Given the description of an element on the screen output the (x, y) to click on. 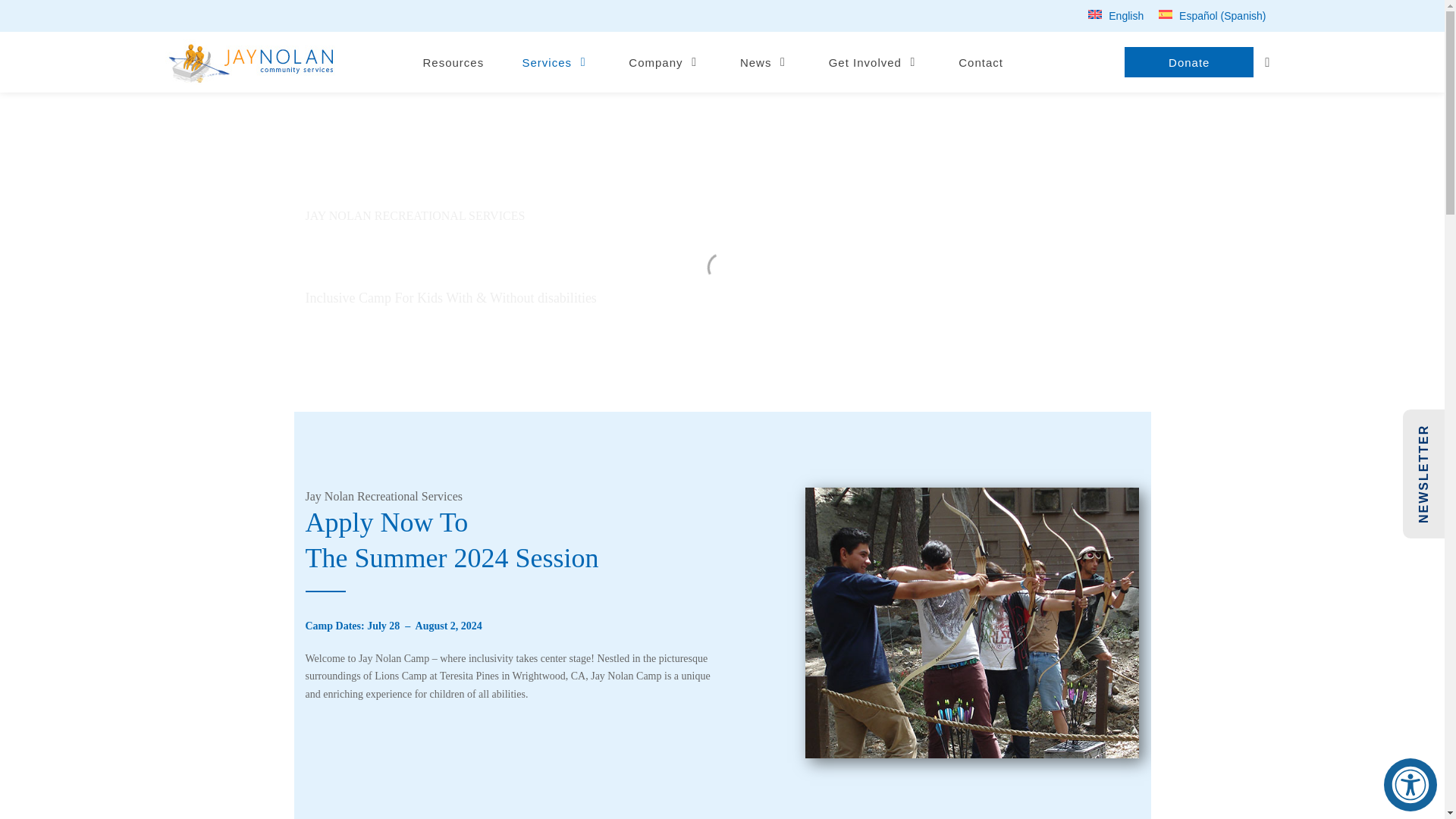
Services (556, 62)
News (764, 62)
Accessibility (1410, 784)
feature-main-1-camp (972, 622)
Resources (453, 62)
Get Involved (874, 62)
English (1115, 15)
Company (664, 62)
